Given the description of an element on the screen output the (x, y) to click on. 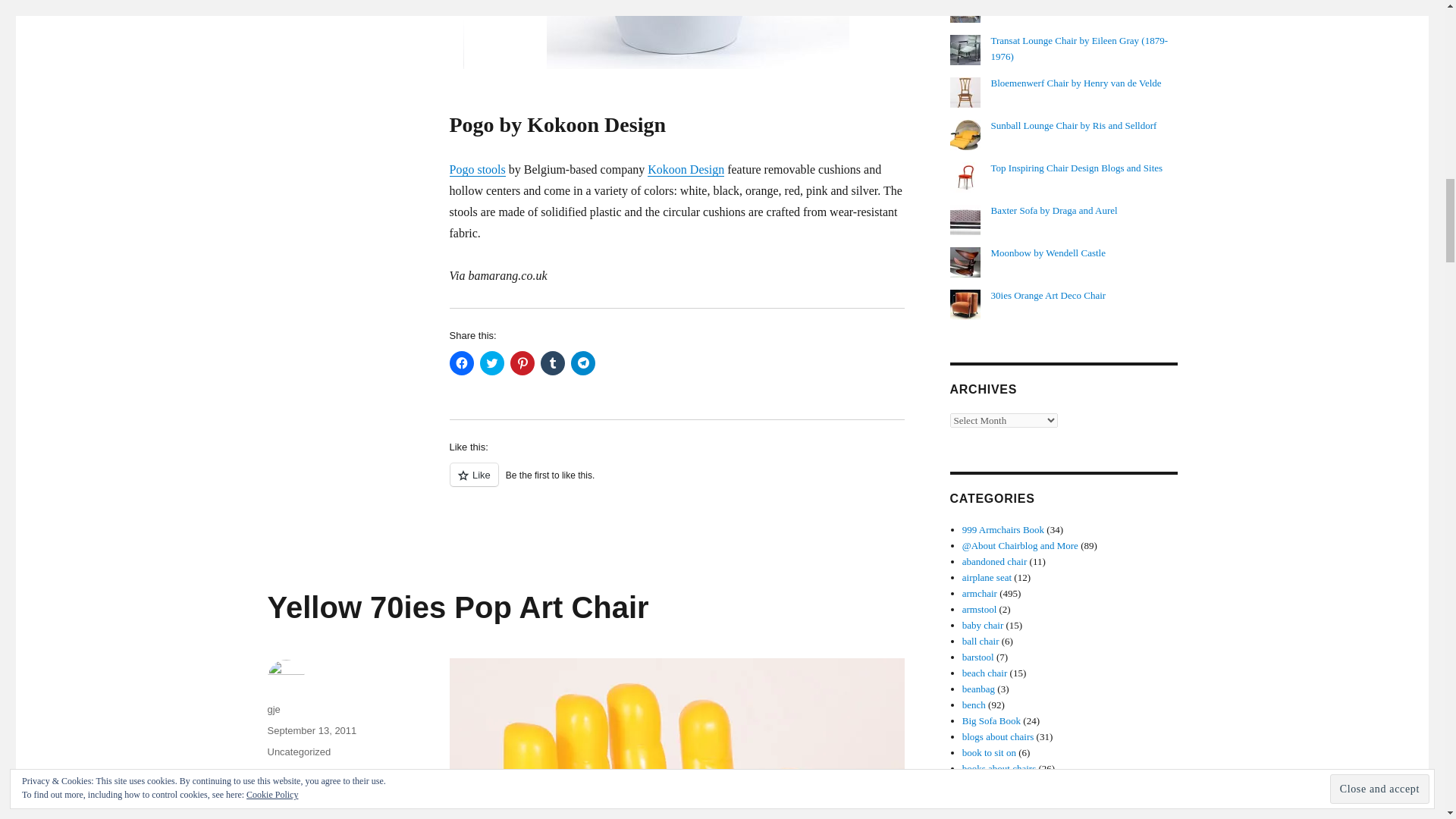
Like or Reblog (676, 483)
Yellow 70ies Pop Art Chair (456, 607)
Click to share on Tumblr (552, 363)
Click to share on Telegram (582, 363)
Click to share on Twitter (491, 363)
Click to share on Facebook (460, 363)
Kokoon Design (685, 169)
Click to share on Pinterest (521, 363)
September 13, 2011 (311, 730)
yellow (315, 772)
pogo (676, 34)
plastic (291, 794)
gje (280, 772)
Pogo stools (272, 708)
